Given the description of an element on the screen output the (x, y) to click on. 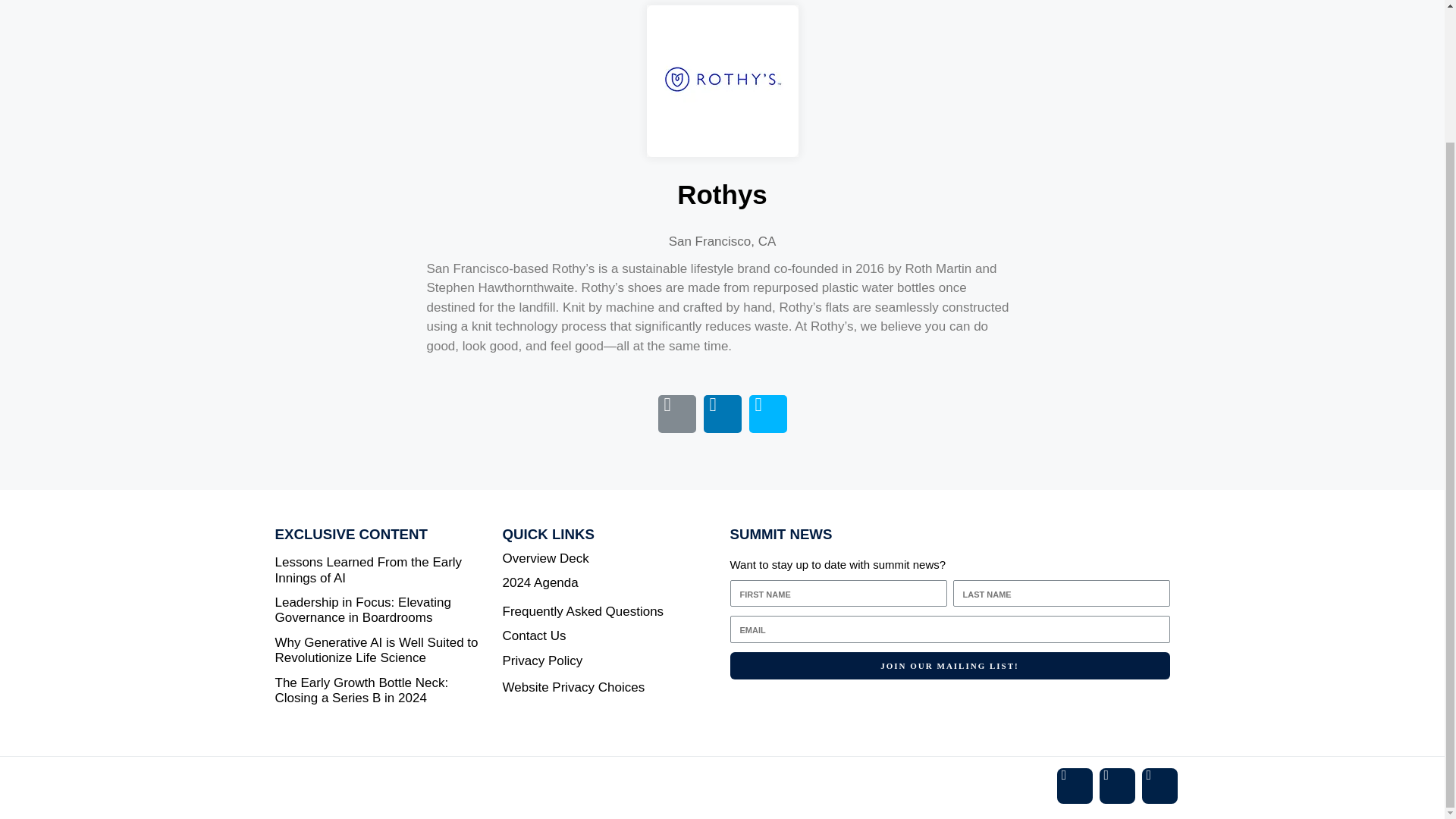
Join Our Mailing List! (949, 665)
